Given the description of an element on the screen output the (x, y) to click on. 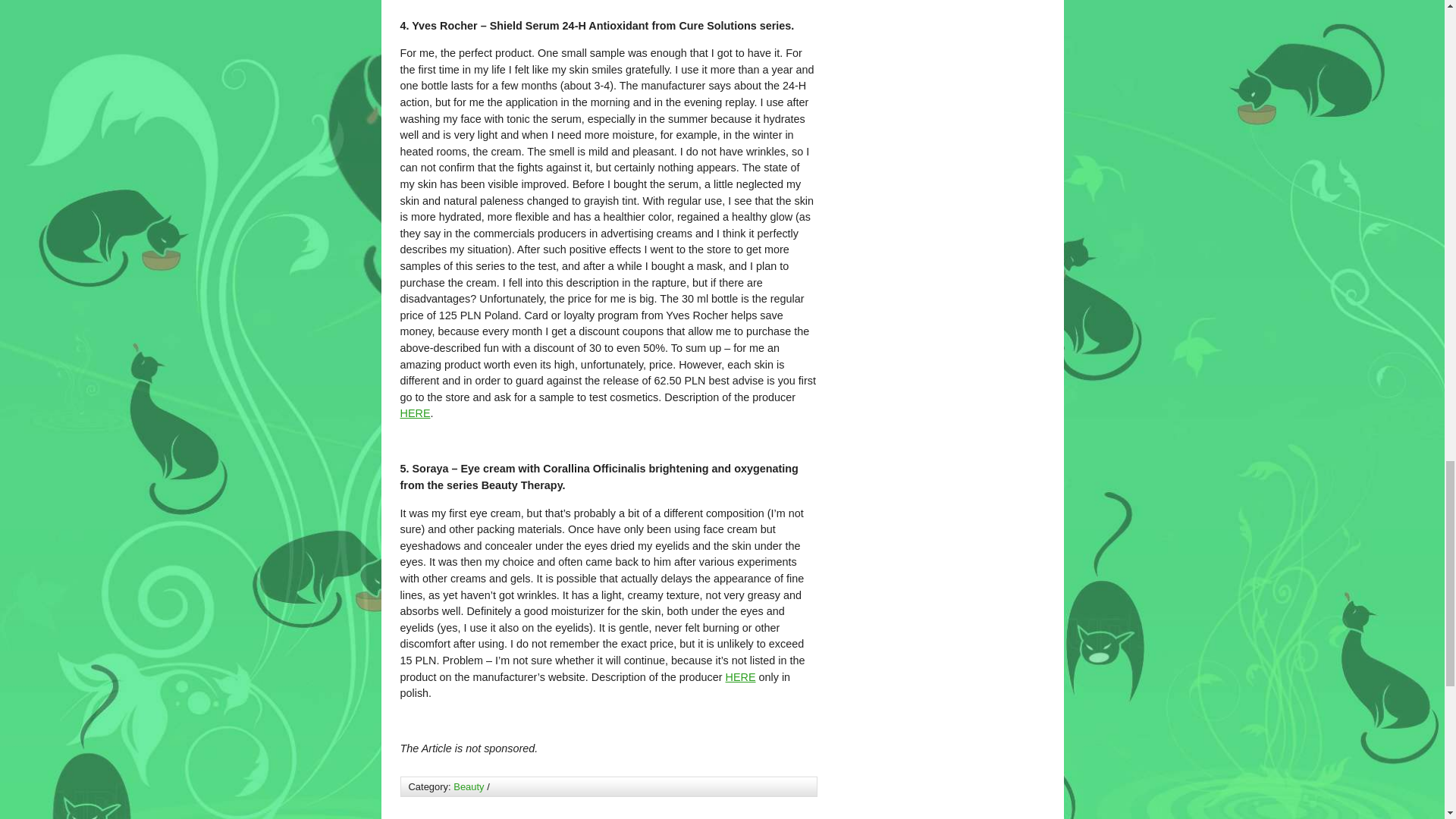
Beauty (467, 786)
HERE (740, 676)
HERE (415, 413)
